Given the description of an element on the screen output the (x, y) to click on. 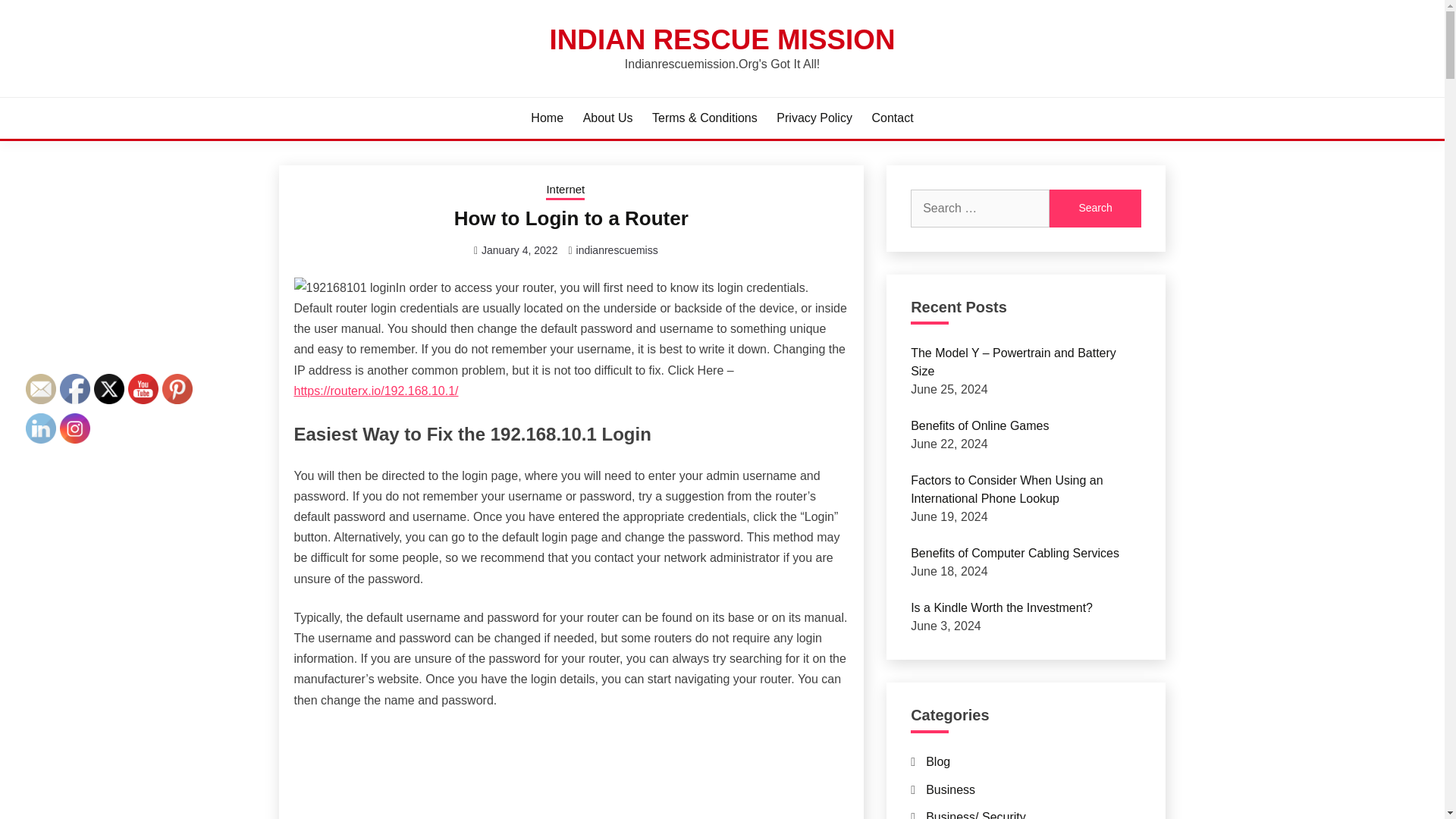
About Us (608, 117)
January 4, 2022 (519, 250)
INDIAN RESCUE MISSION (722, 39)
Follow by Email (41, 388)
YouTube (143, 388)
Home (547, 117)
Pinterest (176, 388)
Twitter (108, 388)
indianrescuemiss (617, 250)
LinkedIn (41, 428)
Instagram (74, 428)
How to Login to a Router (571, 218)
Search (1095, 208)
Search (1095, 208)
Internet (565, 190)
